Given the description of an element on the screen output the (x, y) to click on. 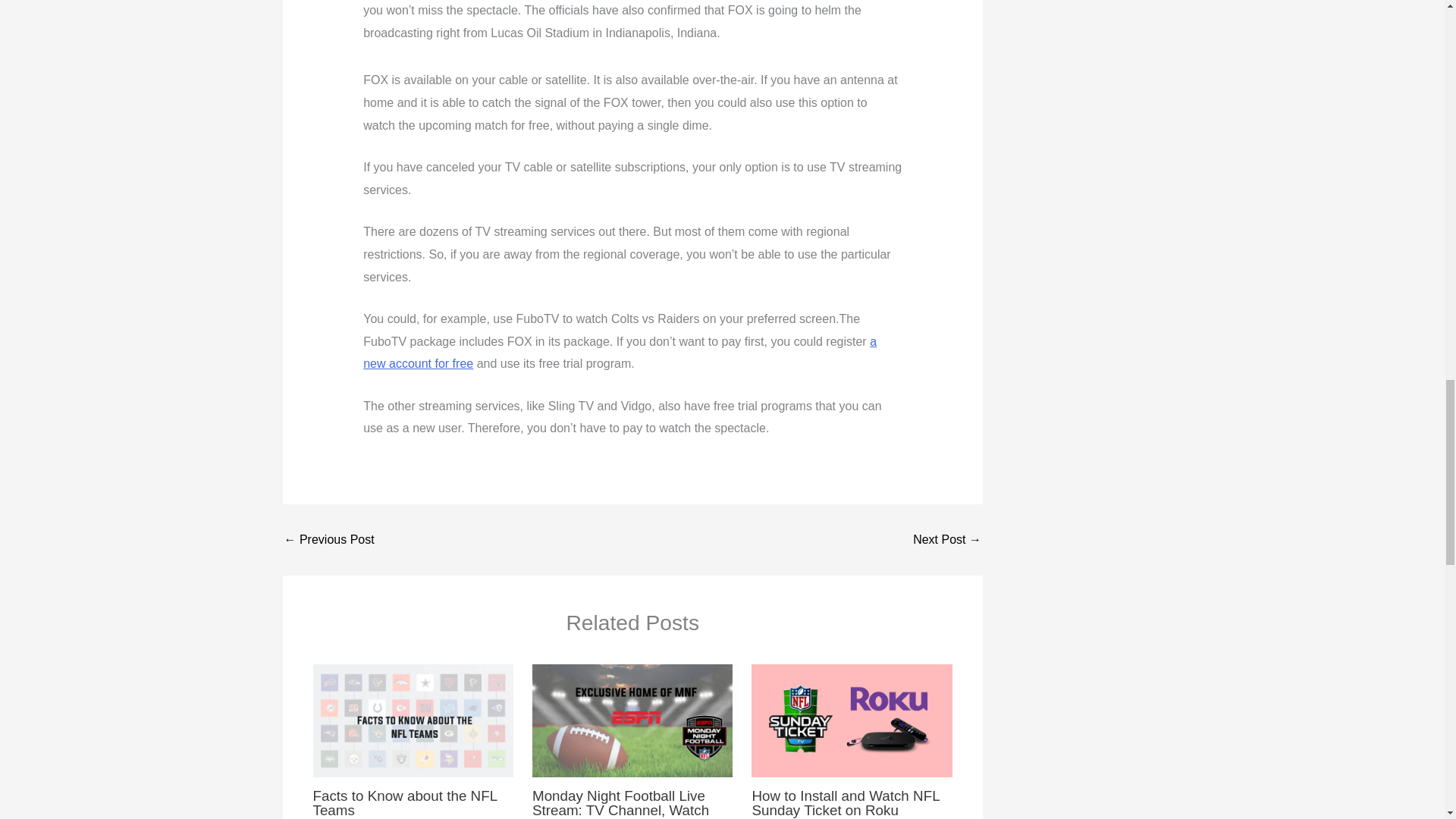
Facts to Know about the NFL Teams (404, 802)
How to Install and Watch NFL Sunday Ticket on Roku (845, 802)
a new account for free (619, 352)
